Given the description of an element on the screen output the (x, y) to click on. 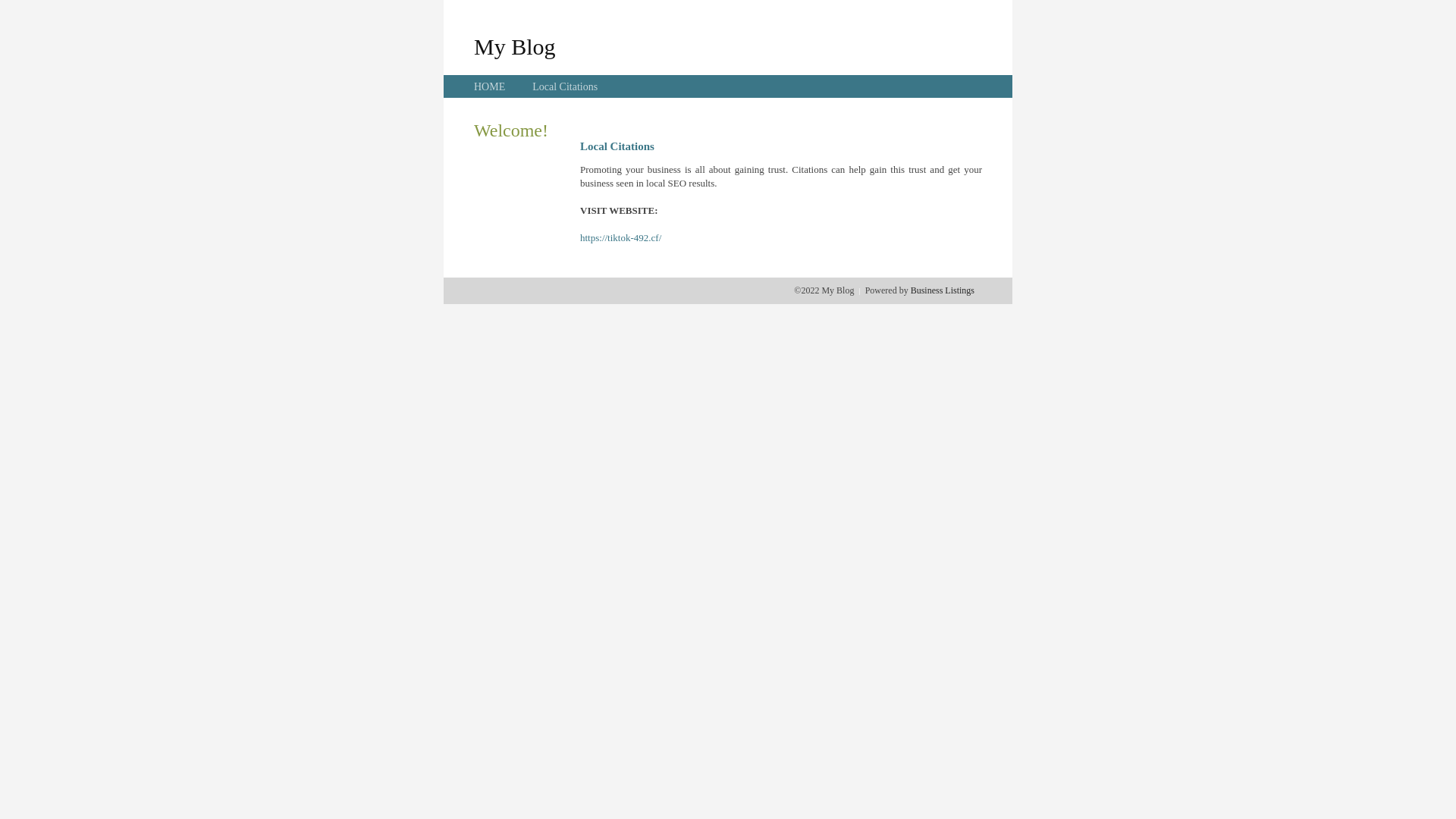
https://tiktok-492.cf/ Element type: text (620, 237)
HOME Element type: text (489, 86)
My Blog Element type: text (514, 46)
Local Citations Element type: text (564, 86)
Business Listings Element type: text (942, 290)
